Given the description of an element on the screen output the (x, y) to click on. 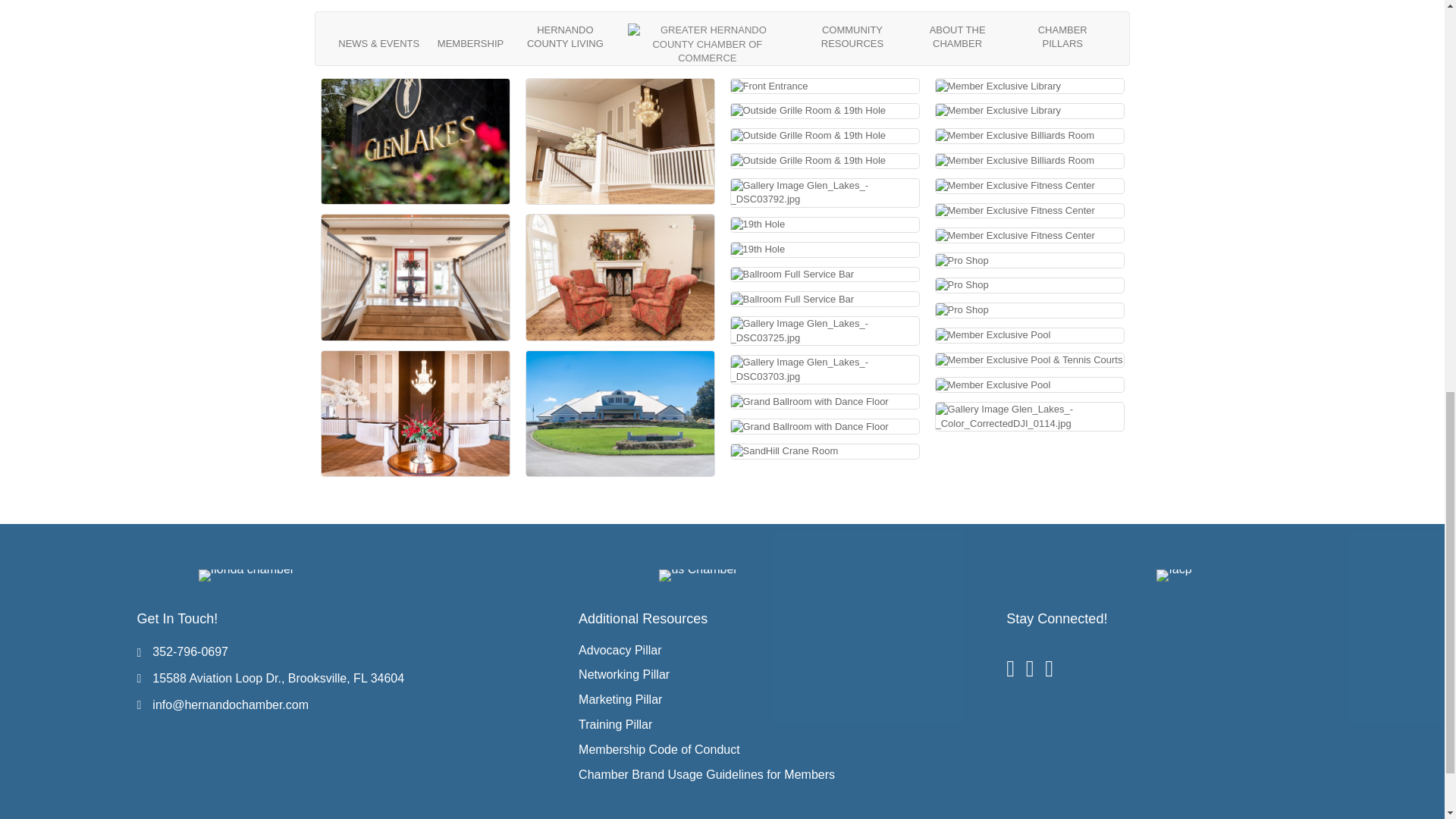
Front Entrance (769, 86)
Ballroom Entrance (415, 413)
Ballroom Entrance (415, 276)
Ballroom Entrance (619, 276)
Ballroom Entrance (619, 140)
